Given the description of an element on the screen output the (x, y) to click on. 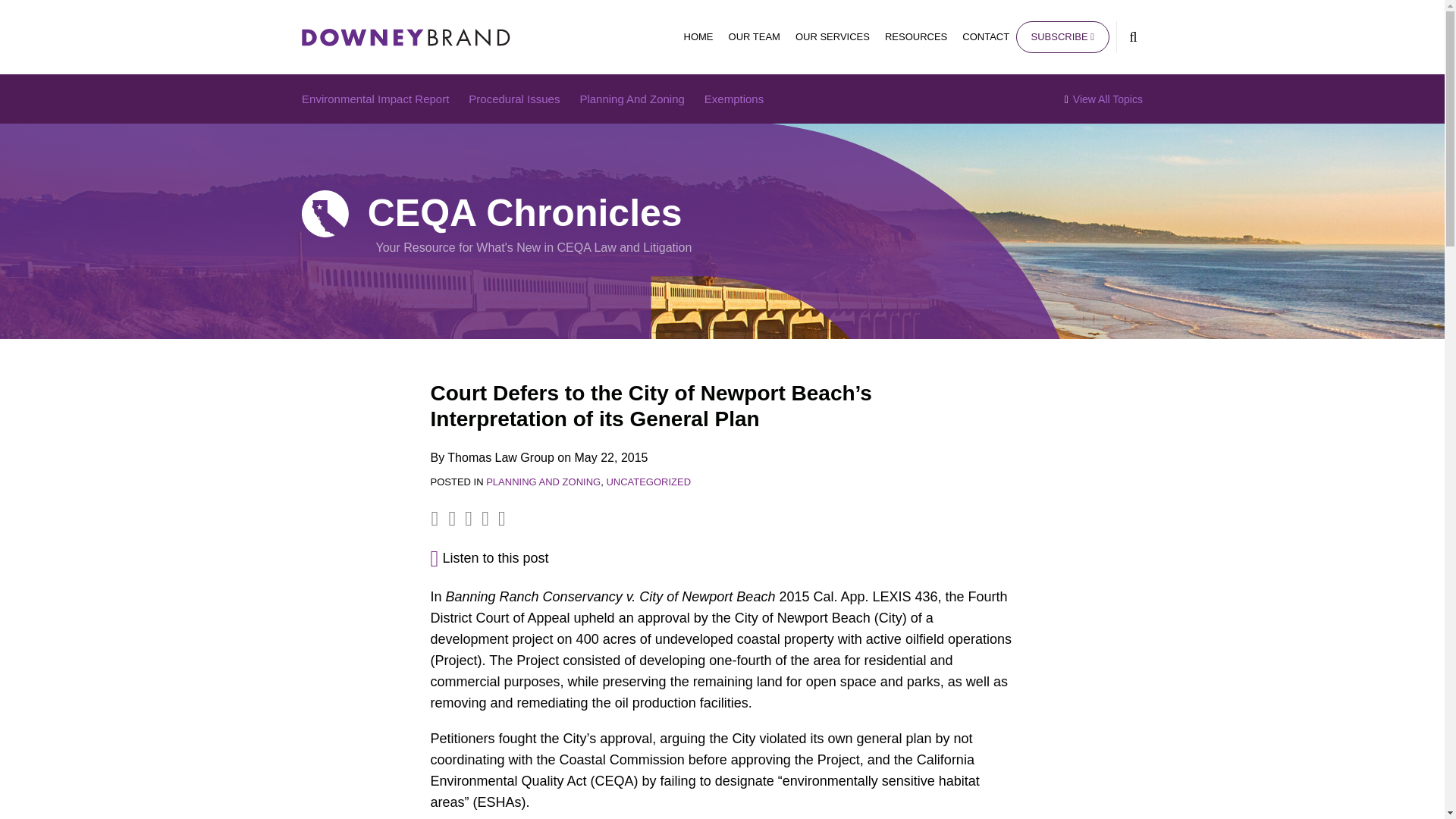
CONTACT (985, 36)
OUR TEAM (754, 36)
UNCATEGORIZED (647, 481)
PLANNING AND ZONING (542, 481)
CEQA Chronicles (525, 212)
Exemptions (733, 99)
HOME (698, 36)
Environmental Impact Report (374, 99)
Planning And Zoning (631, 99)
View All Topics (1103, 99)
OUR SERVICES (831, 36)
RESOURCES (916, 36)
Procedural Issues (513, 99)
SUBSCRIBE (1062, 37)
